Given the description of an element on the screen output the (x, y) to click on. 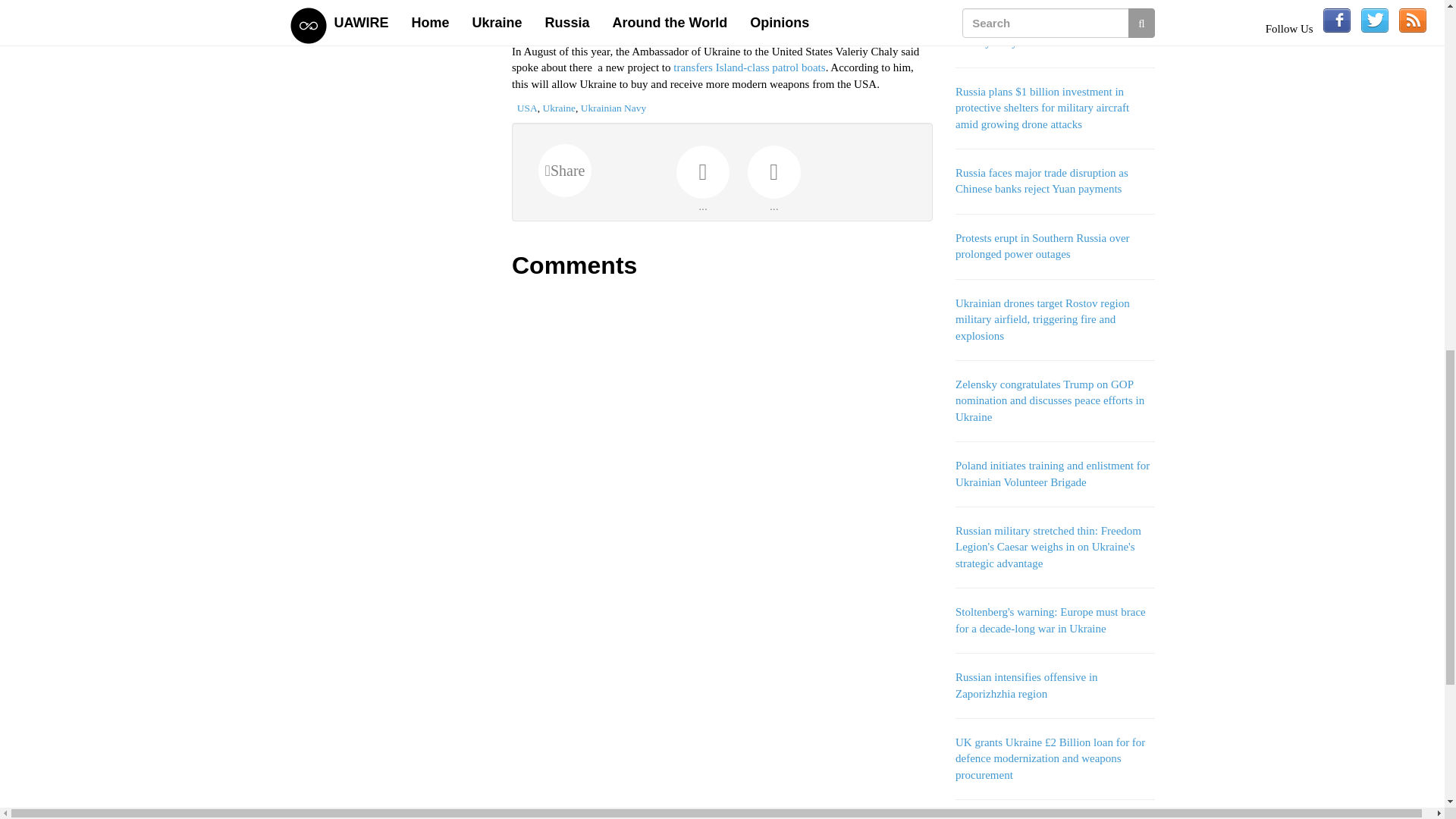
transfers Island-class patrol boats (748, 67)
Russian intensifies offensive in Zaporizhzhia region (1026, 684)
Ukrainian Navy (613, 107)
USA (526, 107)
Ukraine (559, 107)
